Given the description of an element on the screen output the (x, y) to click on. 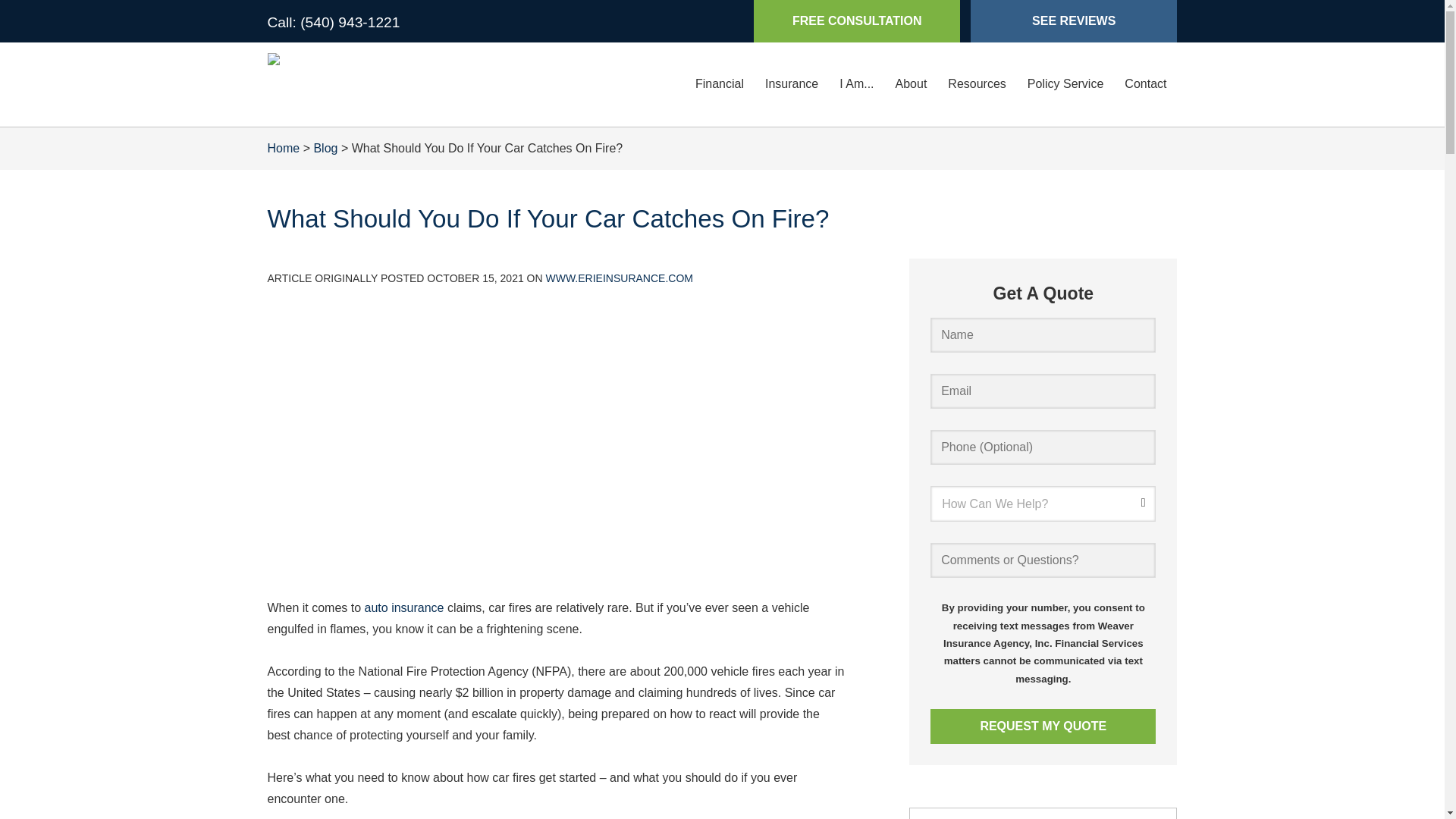
Request My Quote (1043, 726)
Insurance (791, 84)
Financial (719, 84)
SEE REVIEWS (1073, 21)
FREE CONSULTATION (856, 21)
